Given the description of an element on the screen output the (x, y) to click on. 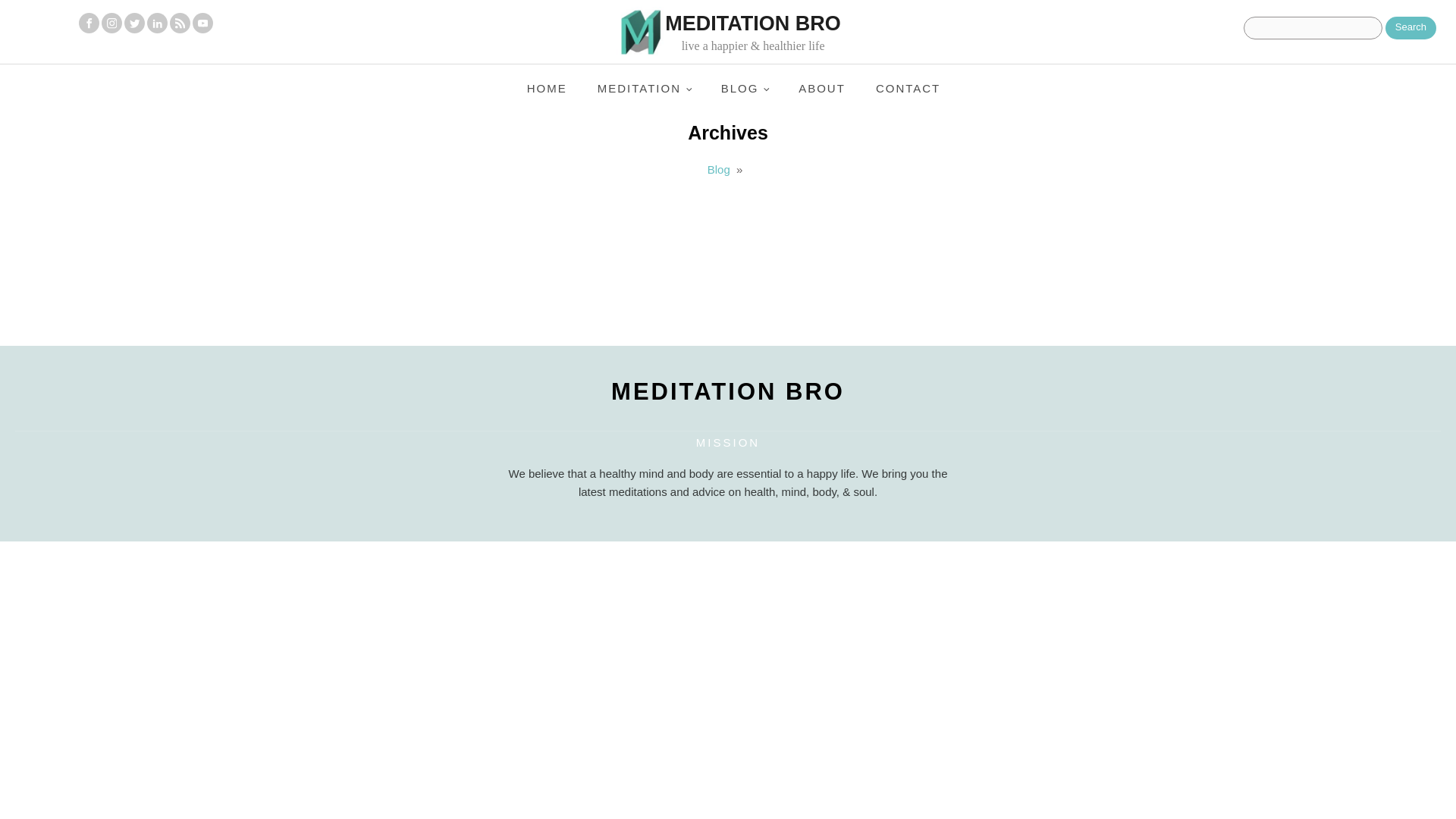
CONTACT (907, 88)
ABOUT (821, 88)
Search (1410, 27)
MEDITATION BRO (727, 391)
BLOG (744, 88)
Search (1410, 27)
Breadcrumb link to Blog (718, 169)
Blog (718, 169)
HOME (547, 88)
MEDITATION (644, 88)
